Given the description of an element on the screen output the (x, y) to click on. 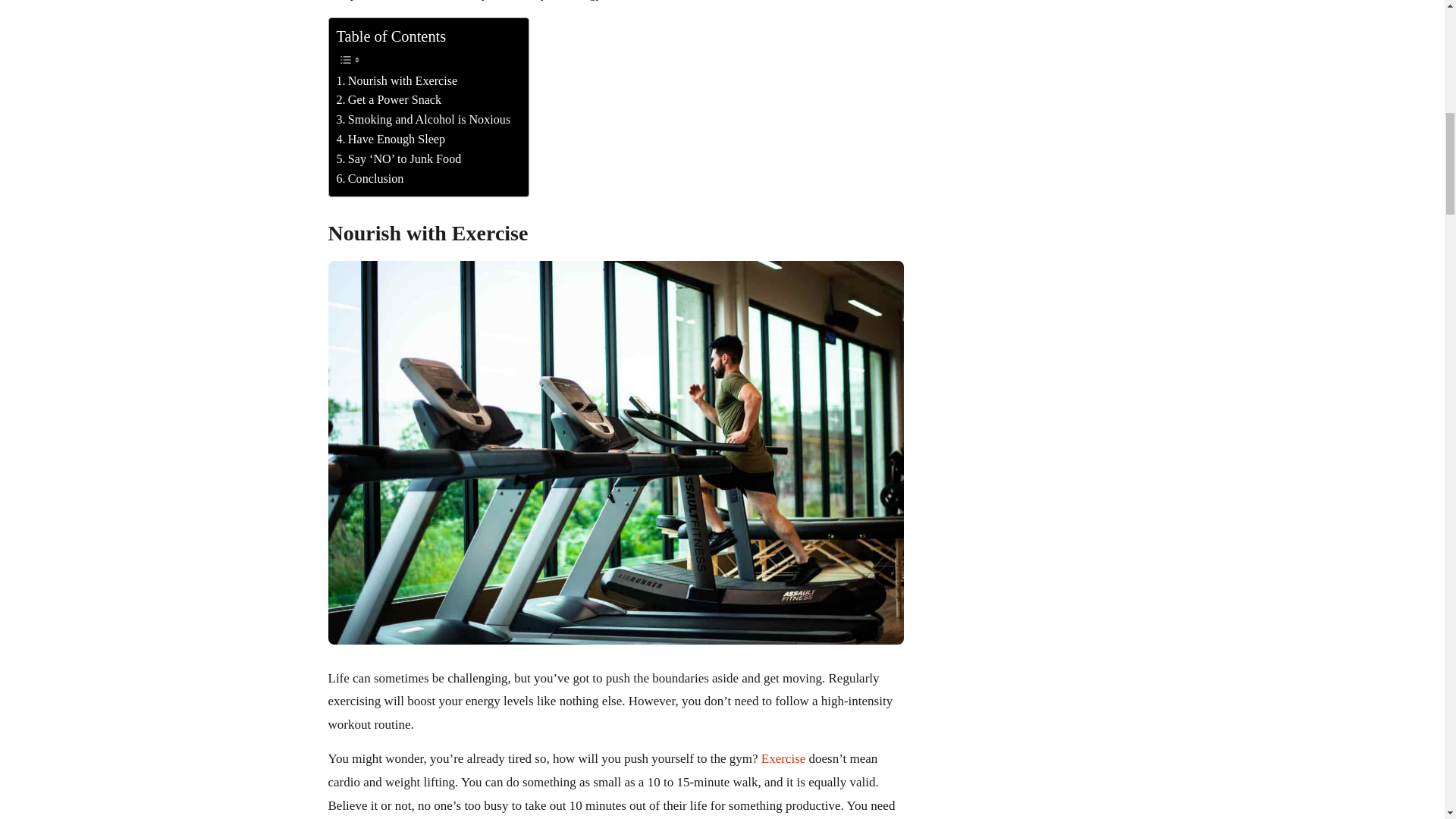
Nourish with Exercise (397, 80)
Have Enough Sleep (390, 139)
